Given the description of an element on the screen output the (x, y) to click on. 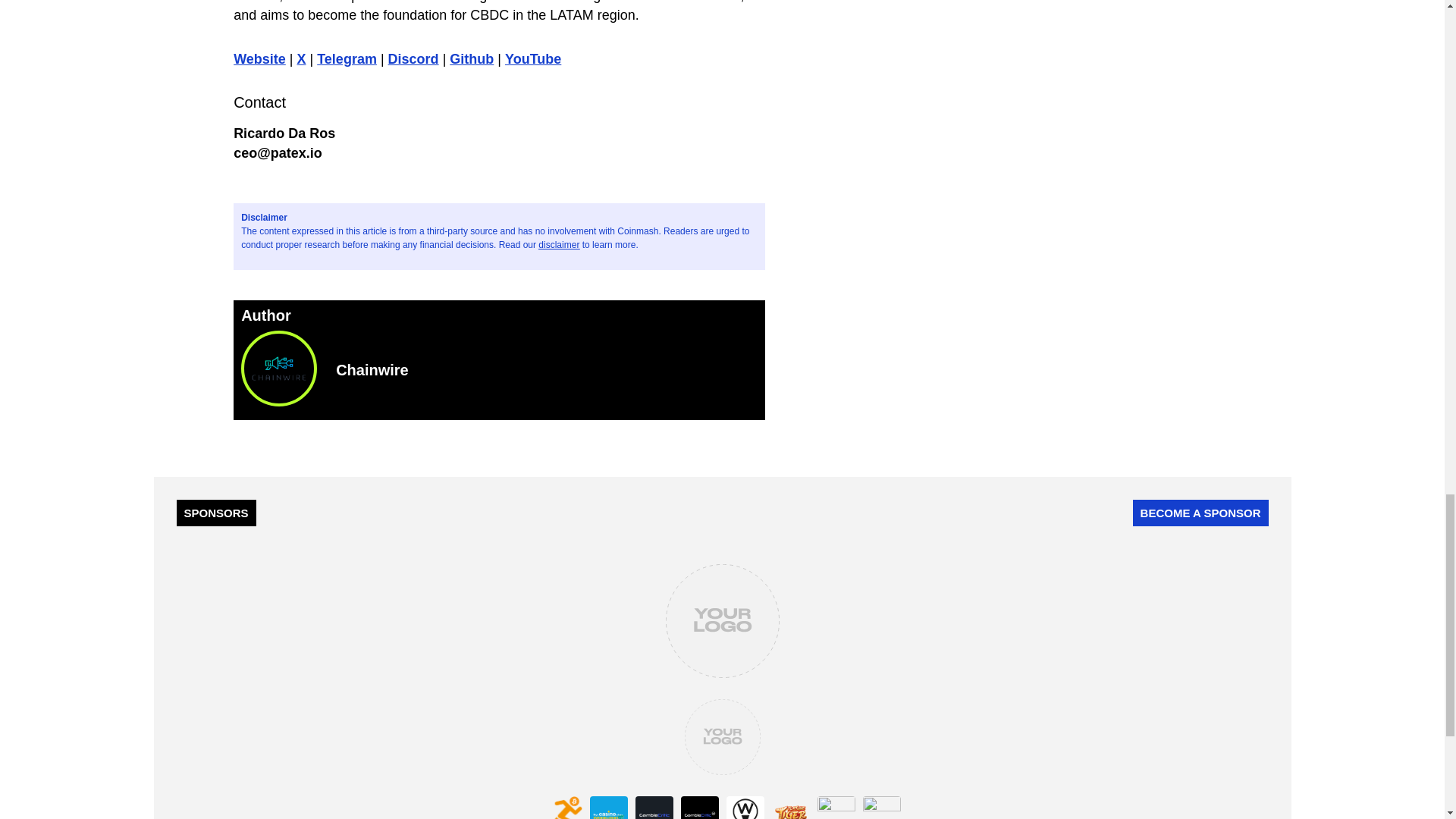
Telegram (347, 58)
YouTube (532, 58)
Website (258, 58)
disclaimer (558, 244)
Chainwire (546, 370)
Github (471, 58)
Discord (413, 58)
